Given the description of an element on the screen output the (x, y) to click on. 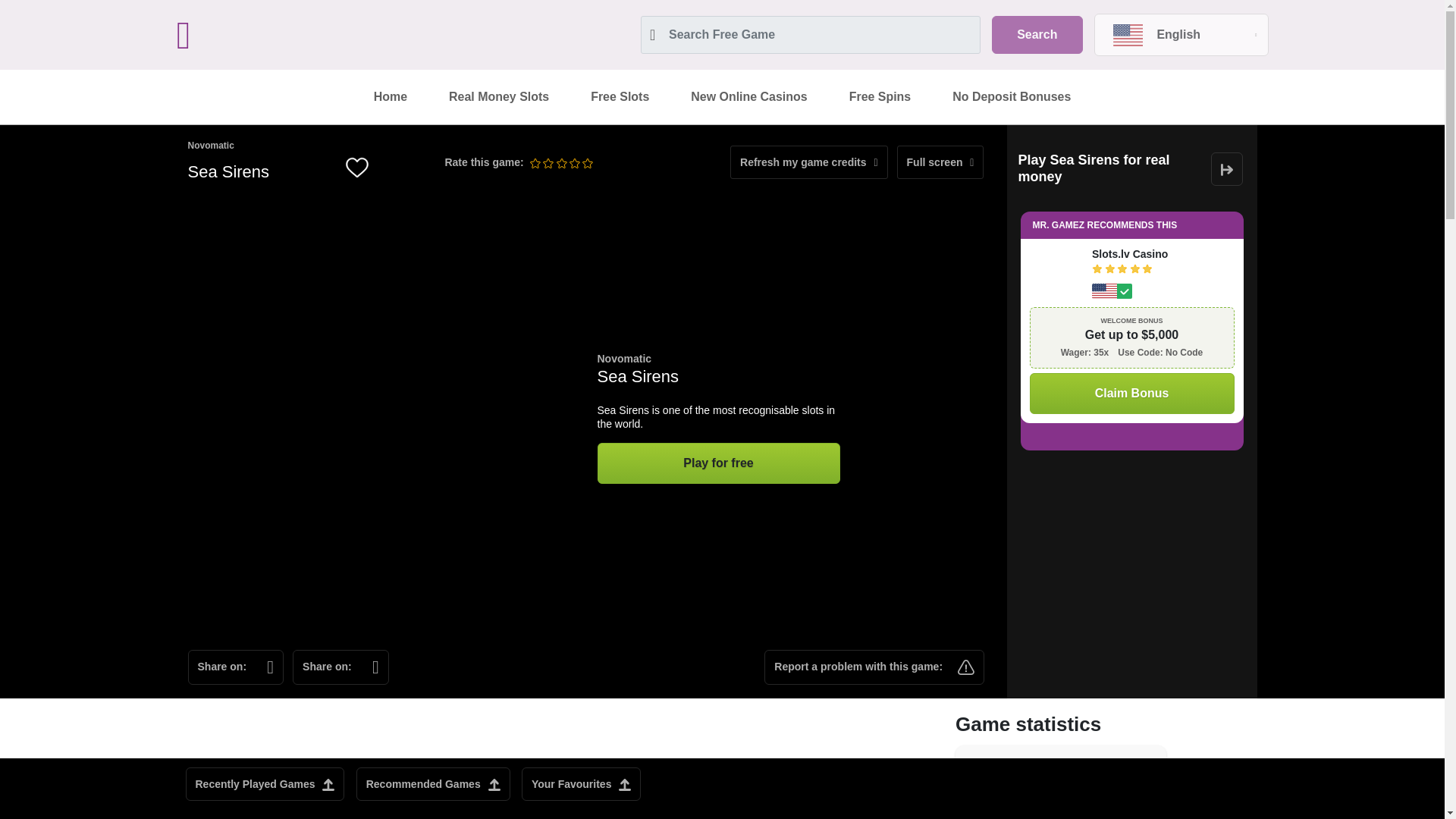
Claim Bonus (1131, 393)
homepage (304, 34)
New Online Casinos (748, 96)
Share on: (235, 667)
Home (390, 96)
Play for free (718, 463)
English (1180, 34)
Search (1036, 34)
Free Slots (620, 96)
Real Money Slots (498, 96)
